Given the description of an element on the screen output the (x, y) to click on. 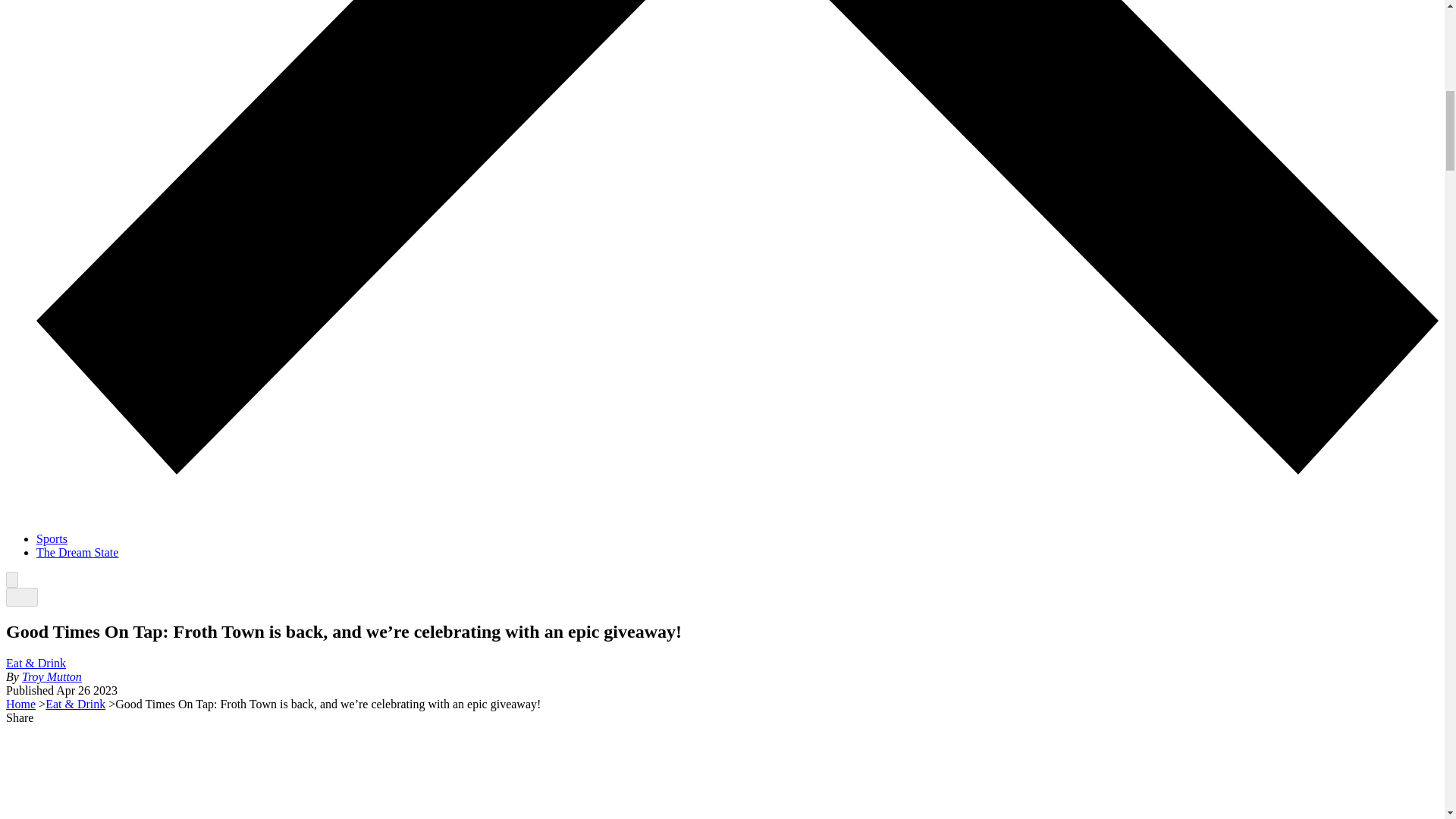
Home (19, 703)
Troy Mutton (51, 676)
Sports (51, 538)
The Dream State (76, 552)
